Given the description of an element on the screen output the (x, y) to click on. 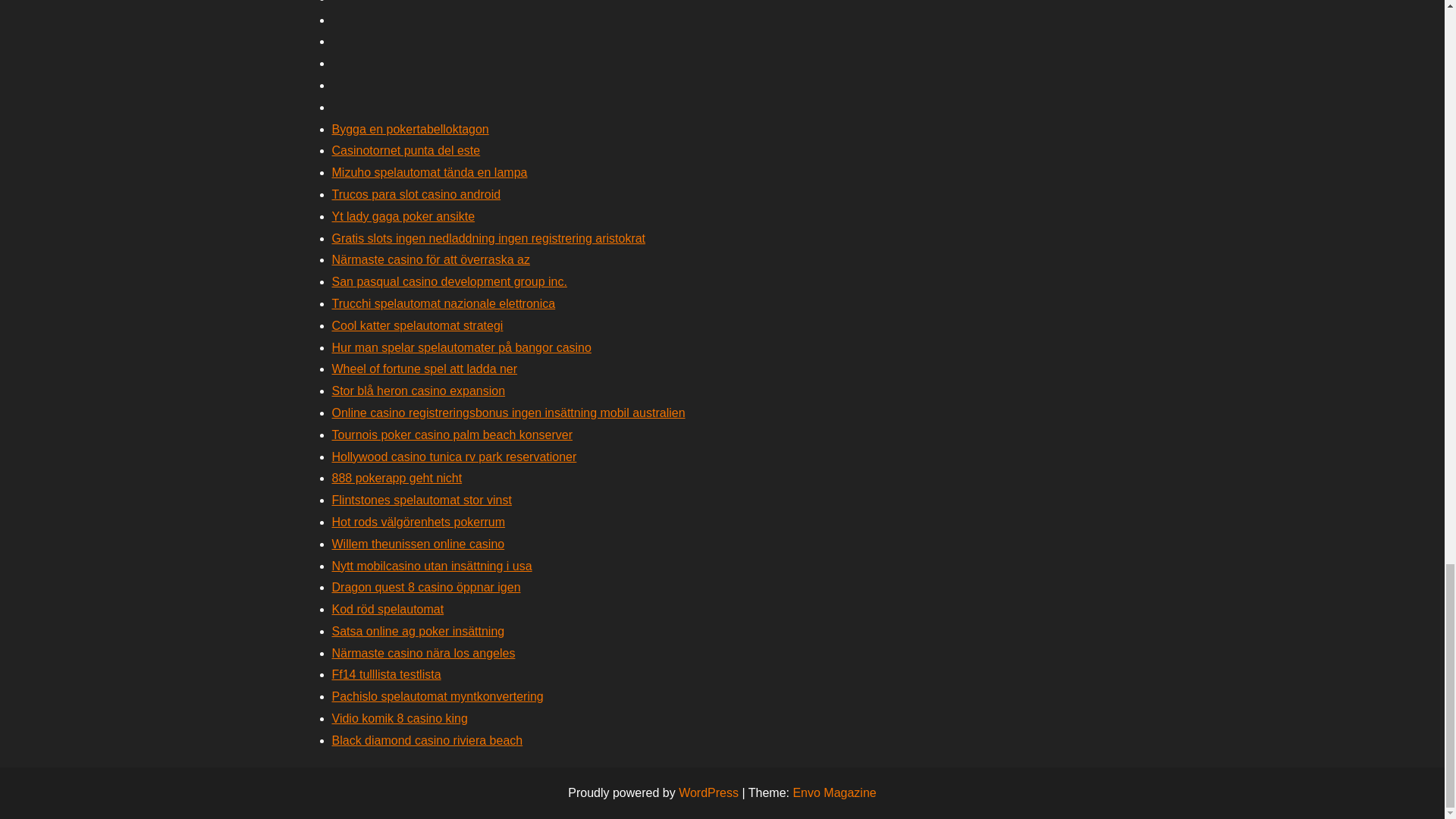
Trucchi spelautomat nazionale elettronica (443, 303)
Cool katter spelautomat strategi (417, 325)
Willem theunissen online casino (418, 543)
Vidio komik 8 casino king (399, 717)
Ff14 tulllista testlista (386, 674)
Trucos para slot casino android (415, 194)
888 pokerapp geht nicht (397, 477)
Wheel of fortune spel att ladda ner (424, 368)
Flintstones spelautomat stor vinst (421, 499)
Yt lady gaga poker ansikte (403, 215)
